Given the description of an element on the screen output the (x, y) to click on. 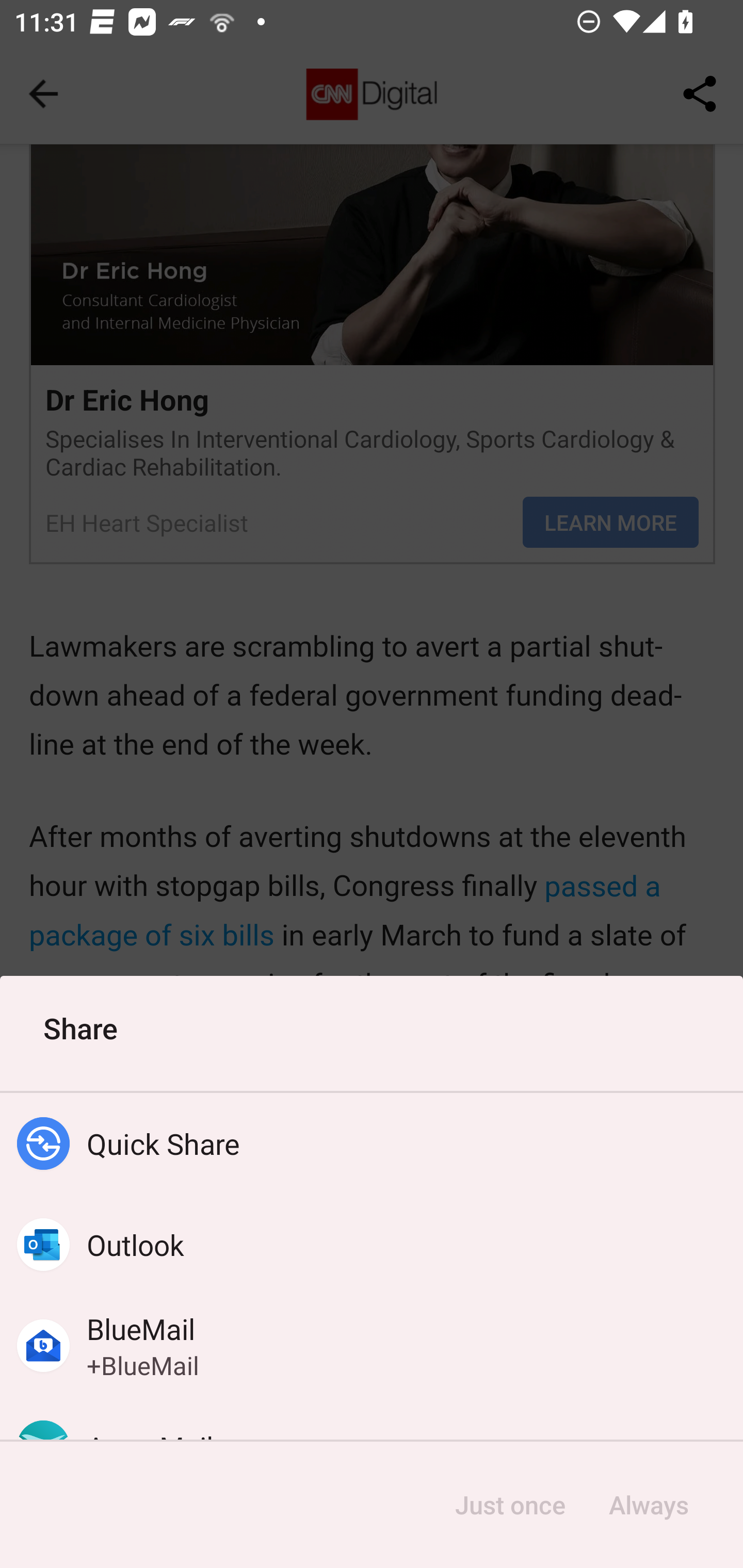
Quick Share (371, 1143)
Outlook (371, 1244)
BlueMail +BlueMail (371, 1345)
Just once (509, 1504)
Always (648, 1504)
